Given the description of an element on the screen output the (x, y) to click on. 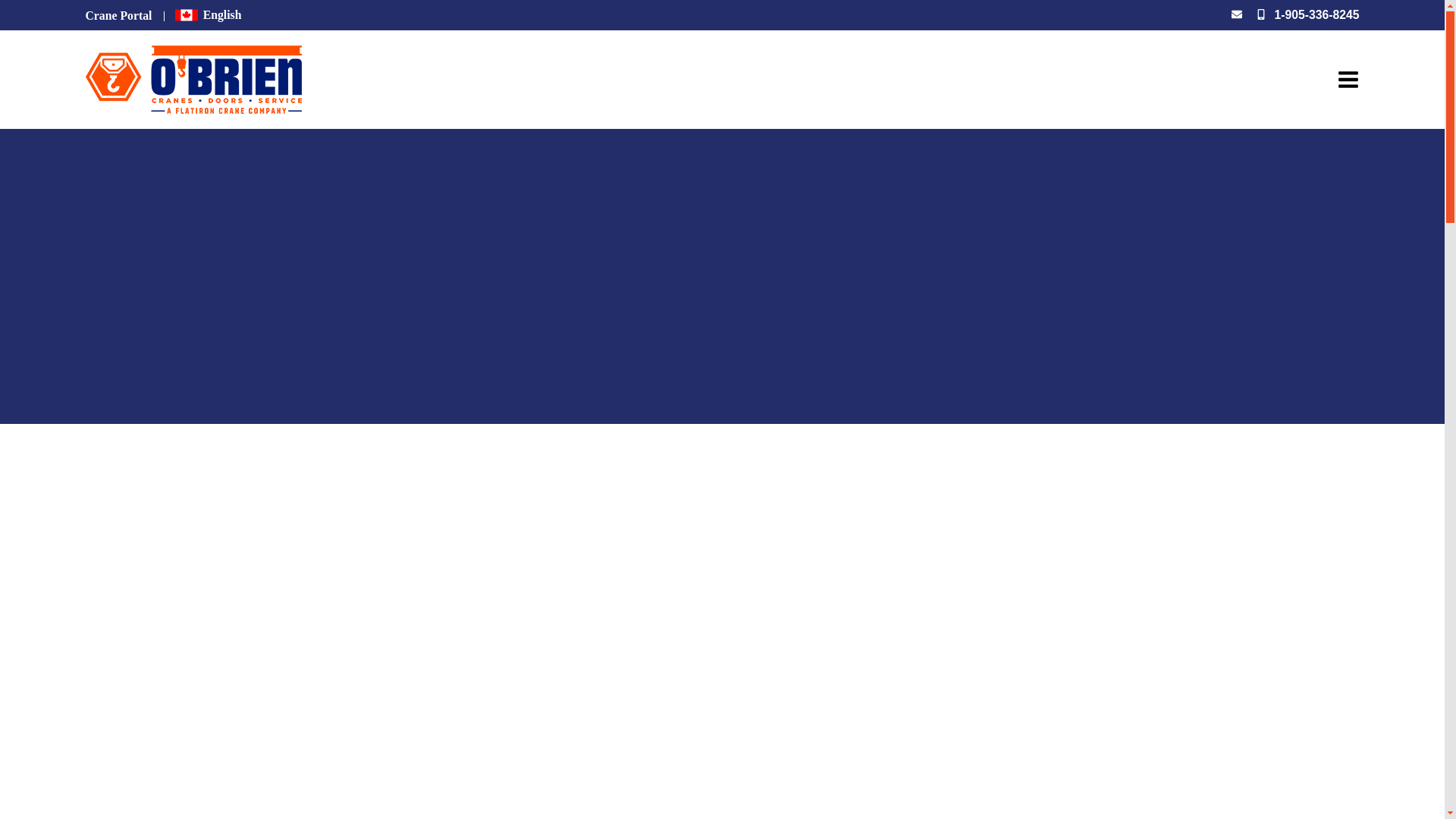
1-905-336-8245 (1316, 14)
Crane Portal (117, 14)
English (207, 14)
